Given the description of an element on the screen output the (x, y) to click on. 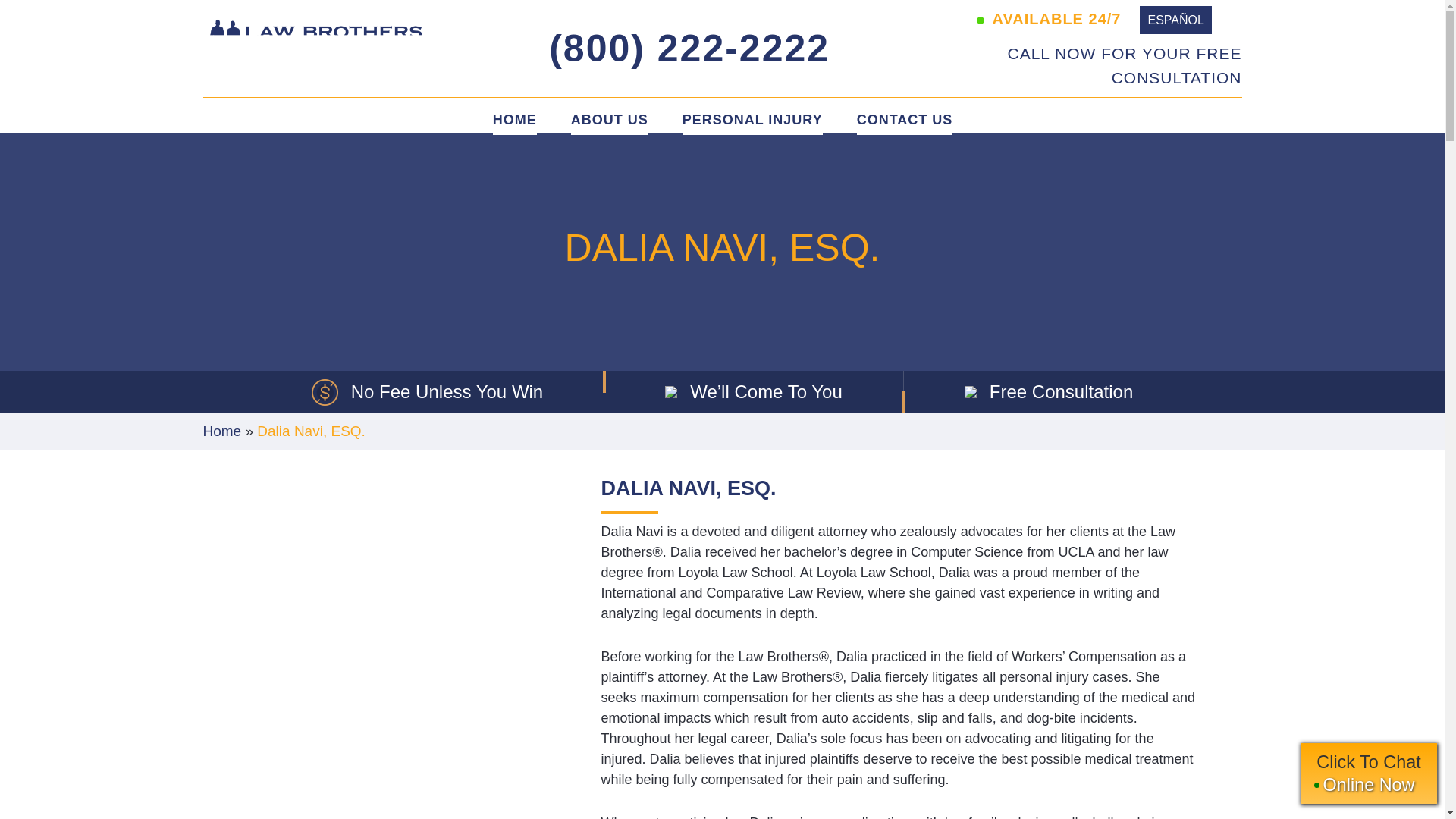
ABOUT US (608, 119)
CONTACT US (905, 119)
HOME (515, 119)
Home (222, 430)
PERSONAL INJURY (1368, 772)
